Given the description of an element on the screen output the (x, y) to click on. 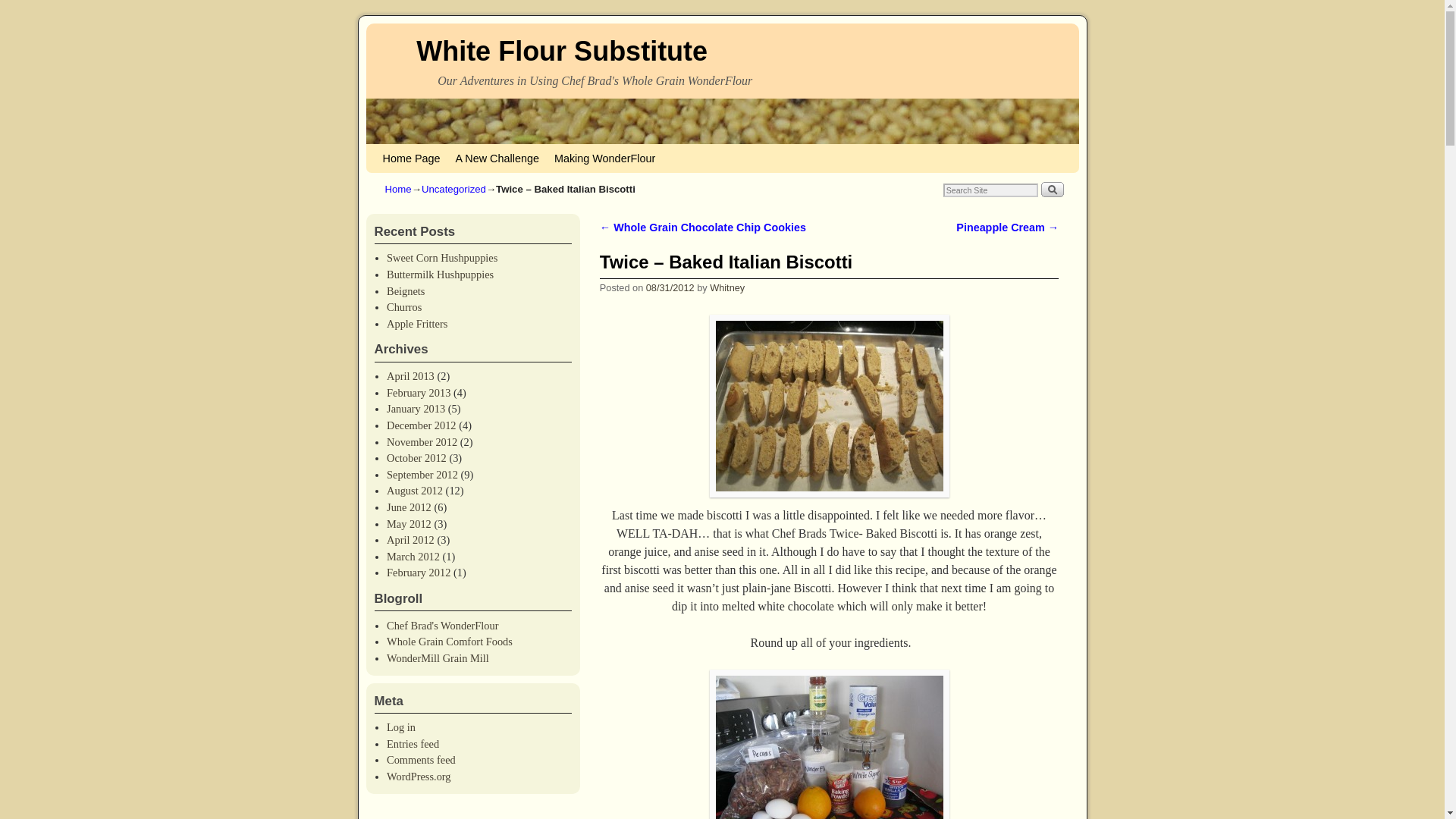
August 2012 (414, 490)
April 2012 (410, 539)
A New Challenge (496, 158)
June 2012 (408, 507)
Home Page (410, 158)
Apple Fritters (416, 323)
March 2012 (413, 556)
April 2013 (410, 376)
Home (398, 188)
WonderMill Grain Mill (438, 657)
Churros (404, 306)
October 2012 (416, 458)
Whole Grain Comfort Foods (449, 641)
Skip to secondary content (451, 158)
